Given the description of an element on the screen output the (x, y) to click on. 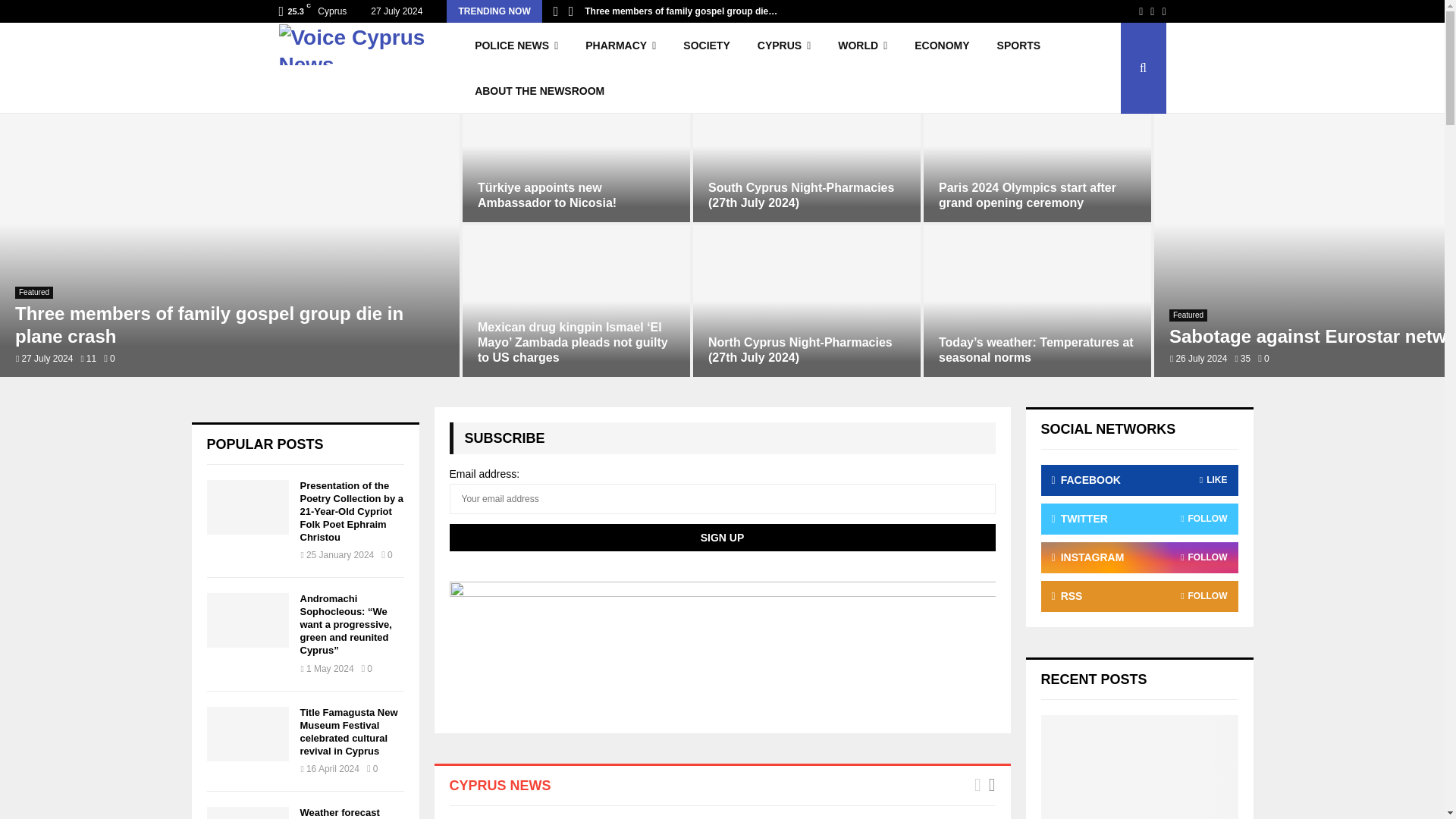
WORLD (862, 44)
Twitter (1152, 11)
CYPRUS (784, 44)
Instagram (1163, 11)
Facebook (1140, 11)
Instagram (1163, 11)
Sign up (721, 537)
PHARMACY (620, 44)
Facebook (1140, 11)
Twitter (1152, 11)
POLICE NEWS (516, 44)
SOCIETY (705, 44)
